Given the description of an element on the screen output the (x, y) to click on. 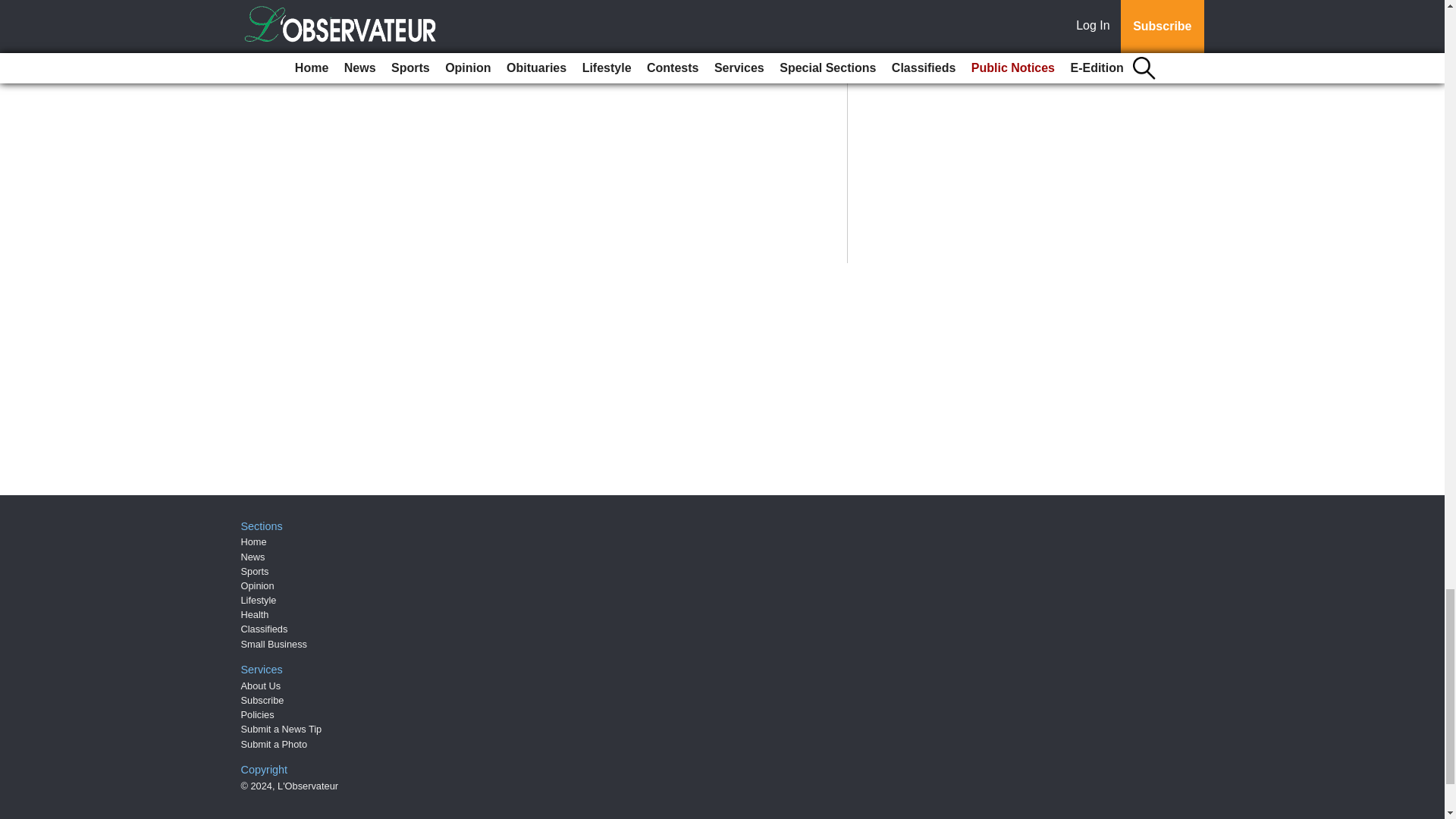
Print Article (384, 67)
